Given the description of an element on the screen output the (x, y) to click on. 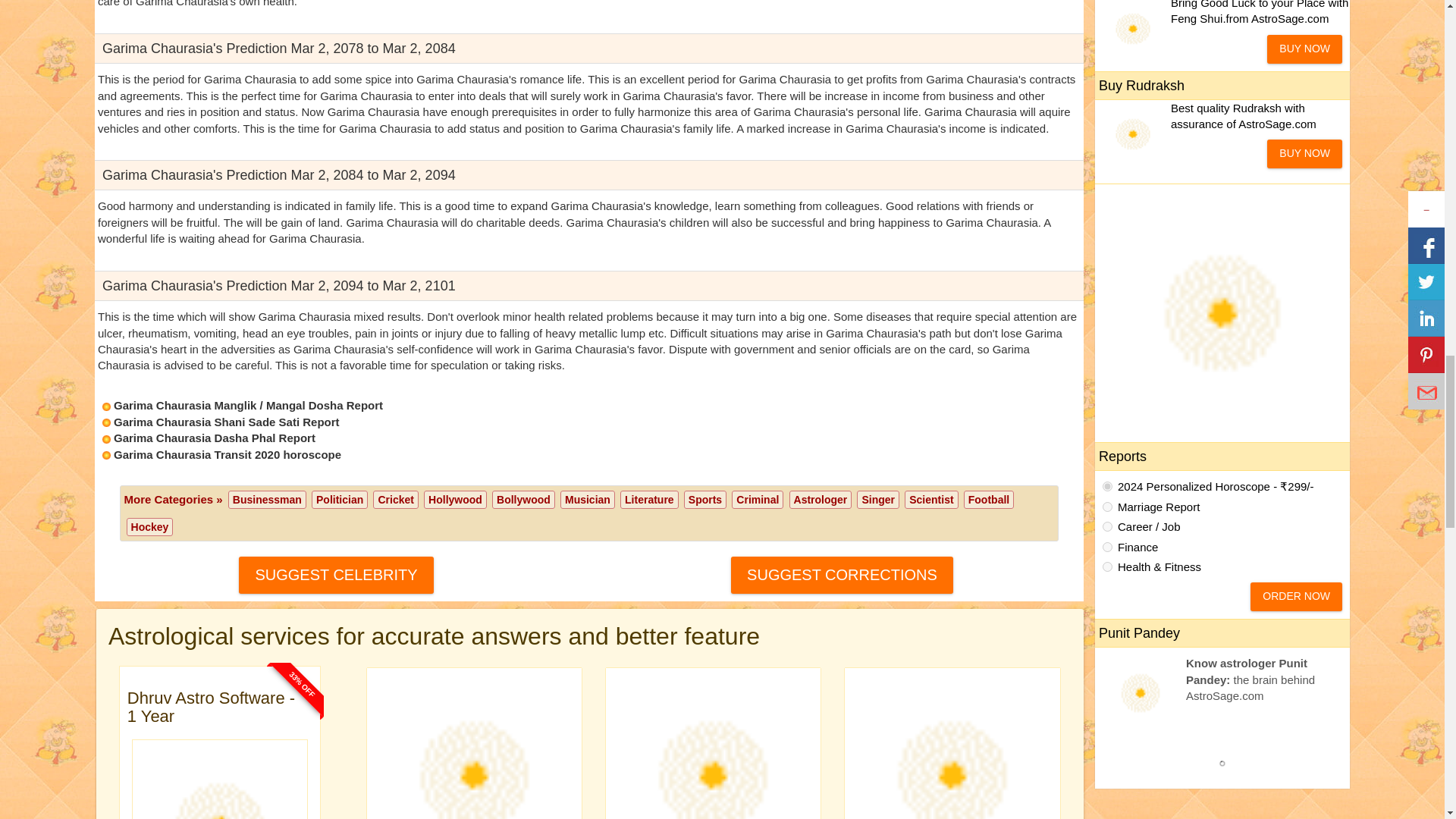
finance-new2 (1107, 547)
health-fitness (1107, 566)
personalized-horoscope-2020 (1107, 486)
career-job-new2 (1107, 526)
marriage-and-love-analysis-new2 (1107, 506)
